Given the description of an element on the screen output the (x, y) to click on. 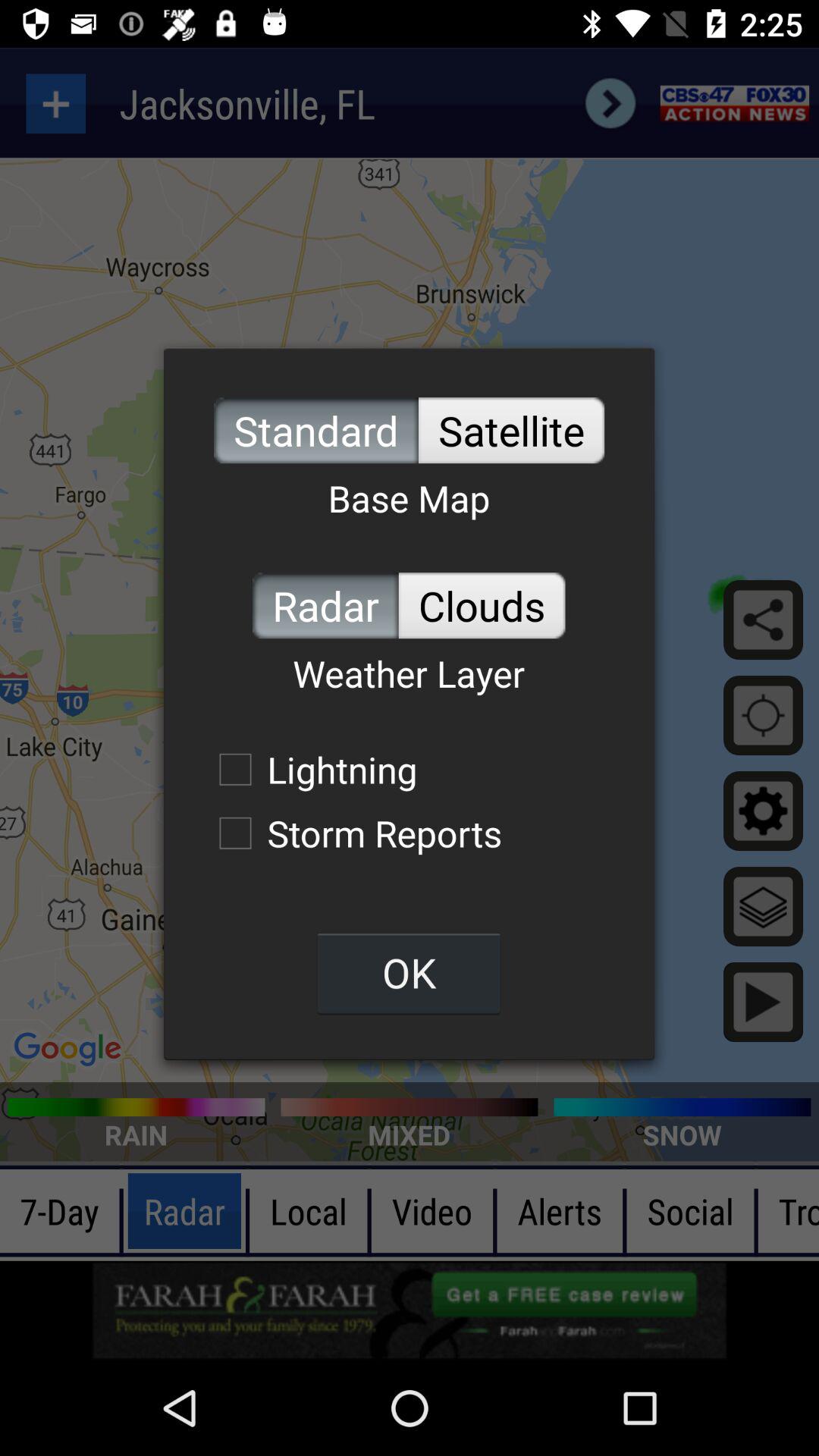
press item to the right of the standard (511, 430)
